Given the description of an element on the screen output the (x, y) to click on. 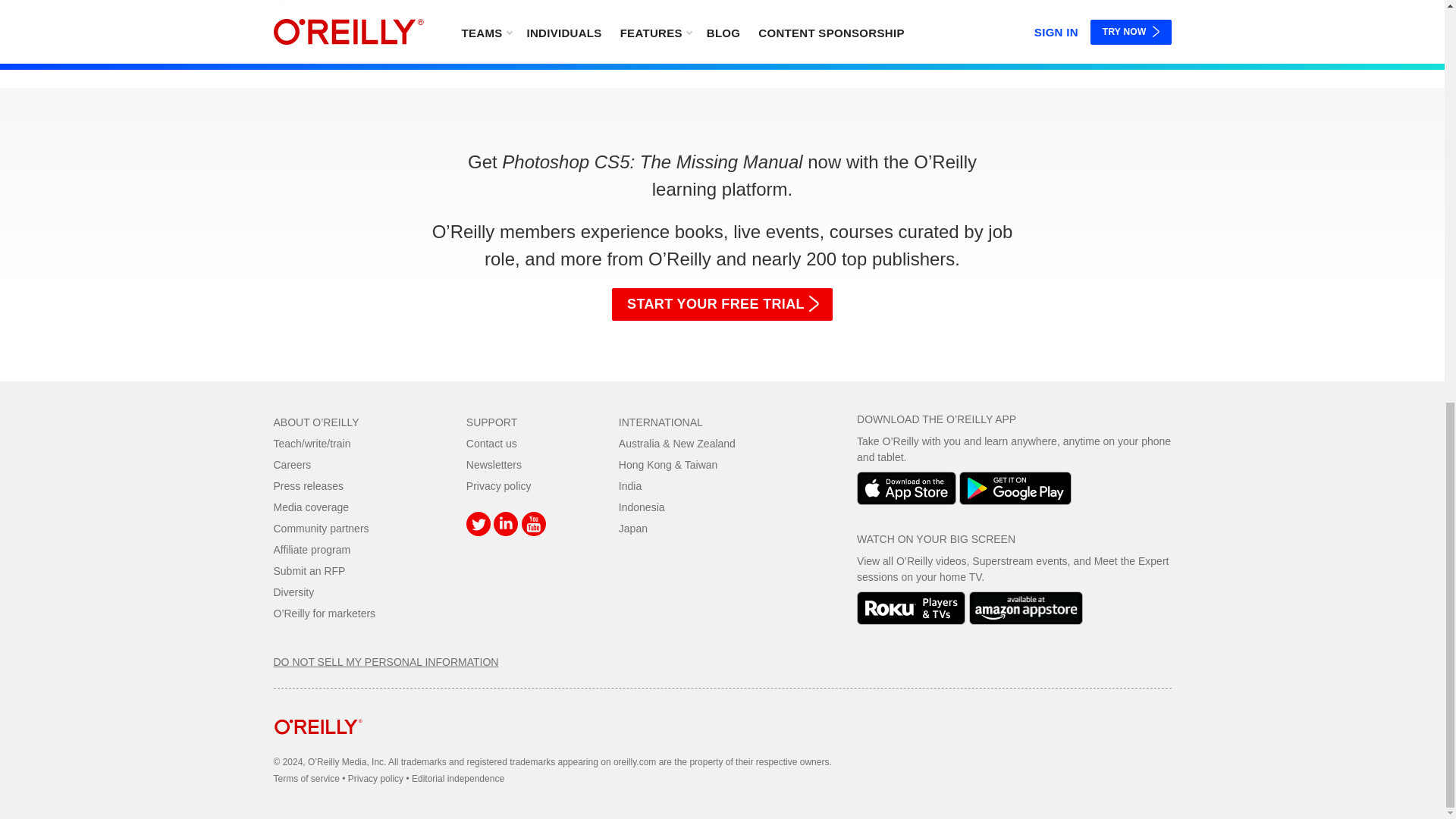
Diversity (293, 592)
SUPPORT (490, 422)
Newsletters (493, 464)
Press releases (308, 485)
Affiliate program (311, 549)
Community partners (320, 528)
START YOUR FREE TRIAL (721, 304)
Media coverage (311, 507)
Contact us (490, 443)
